Given the description of an element on the screen output the (x, y) to click on. 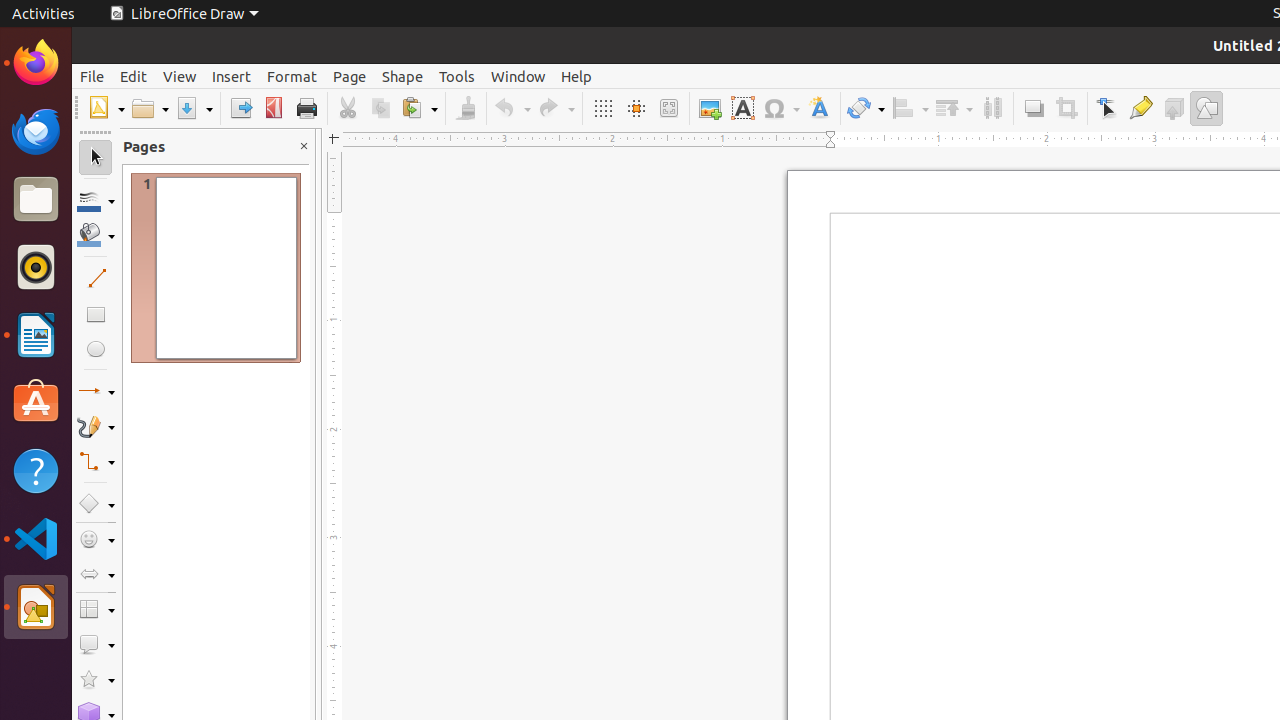
Zoom & Pan Element type: push-button (668, 108)
Page Element type: menu (349, 76)
Callout Shapes Element type: push-button (96, 644)
Lines and Arrows Element type: push-button (96, 391)
Visual Studio Code Element type: push-button (36, 538)
